Given the description of an element on the screen output the (x, y) to click on. 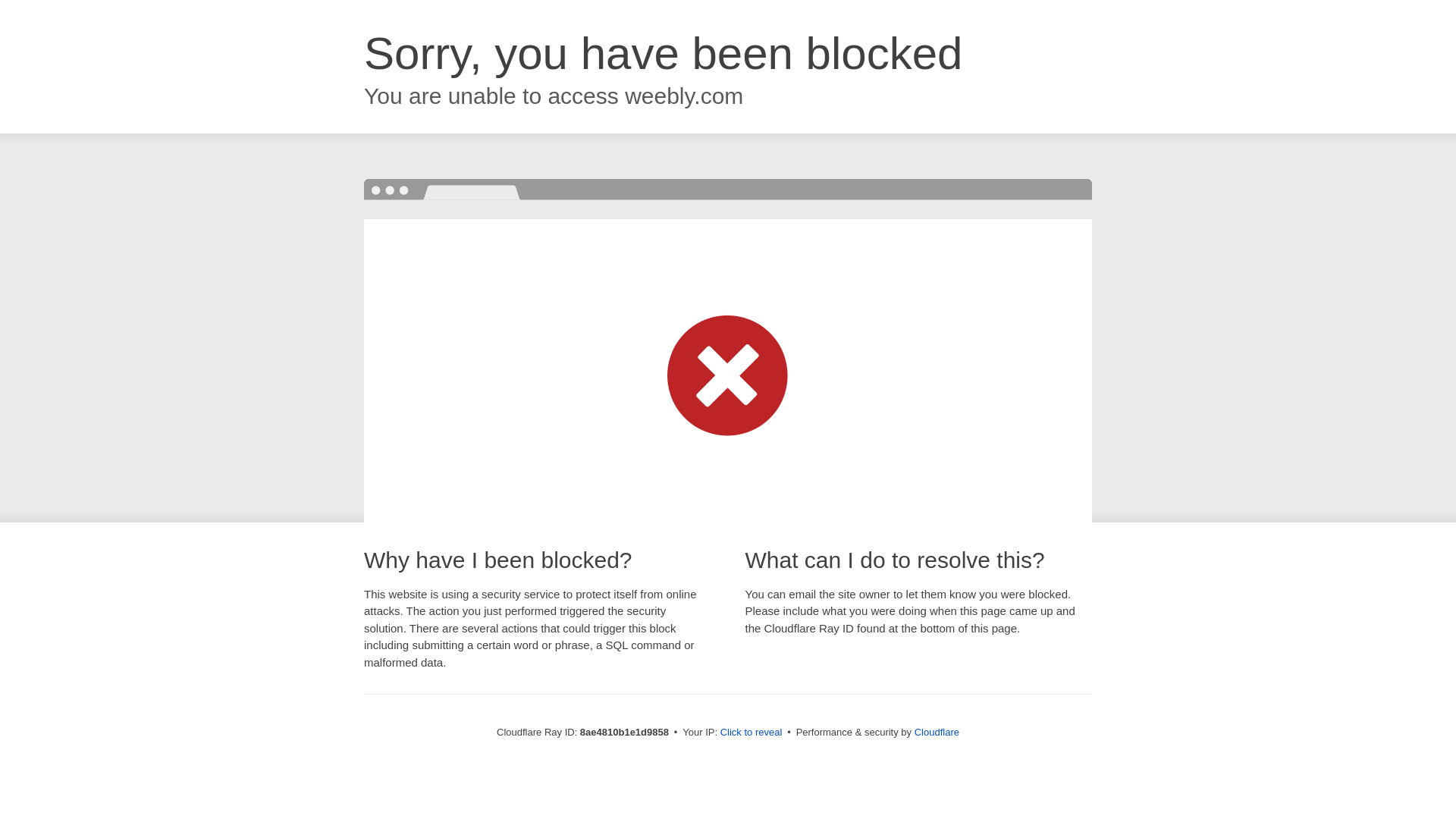
Click to reveal (751, 732)
Cloudflare (936, 731)
